Given the description of an element on the screen output the (x, y) to click on. 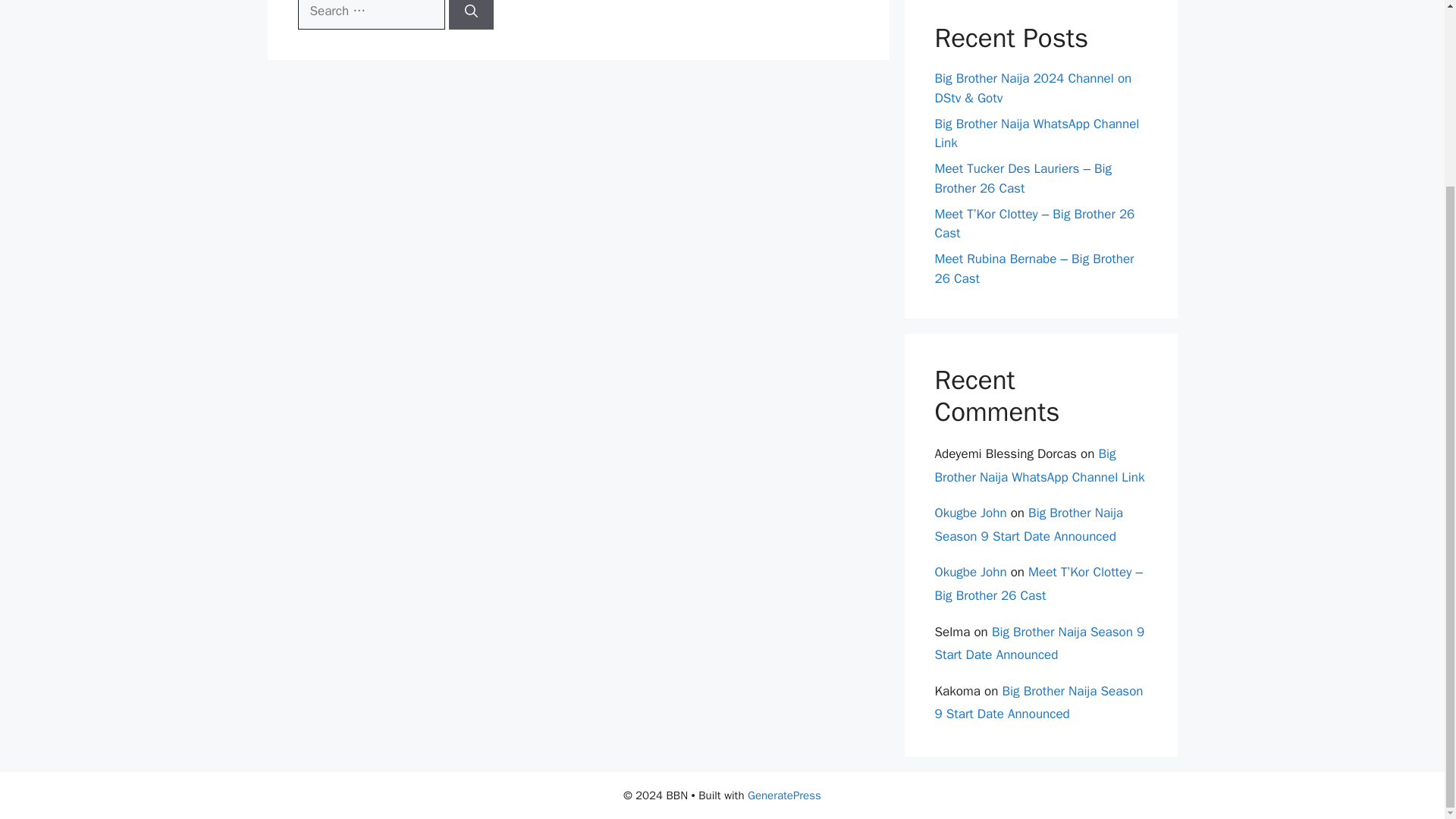
GeneratePress (784, 795)
Big Brother Naija Season 9 Start Date Announced (1028, 524)
Big Brother Naija WhatsApp Channel Link (1036, 132)
Search for: (370, 14)
Okugbe John (970, 512)
Okugbe John (970, 571)
Big Brother Naija WhatsApp Channel Link (1039, 465)
Big Brother Naija Season 9 Start Date Announced (1038, 702)
Big Brother Naija Season 9 Start Date Announced (1039, 643)
